Given the description of an element on the screen output the (x, y) to click on. 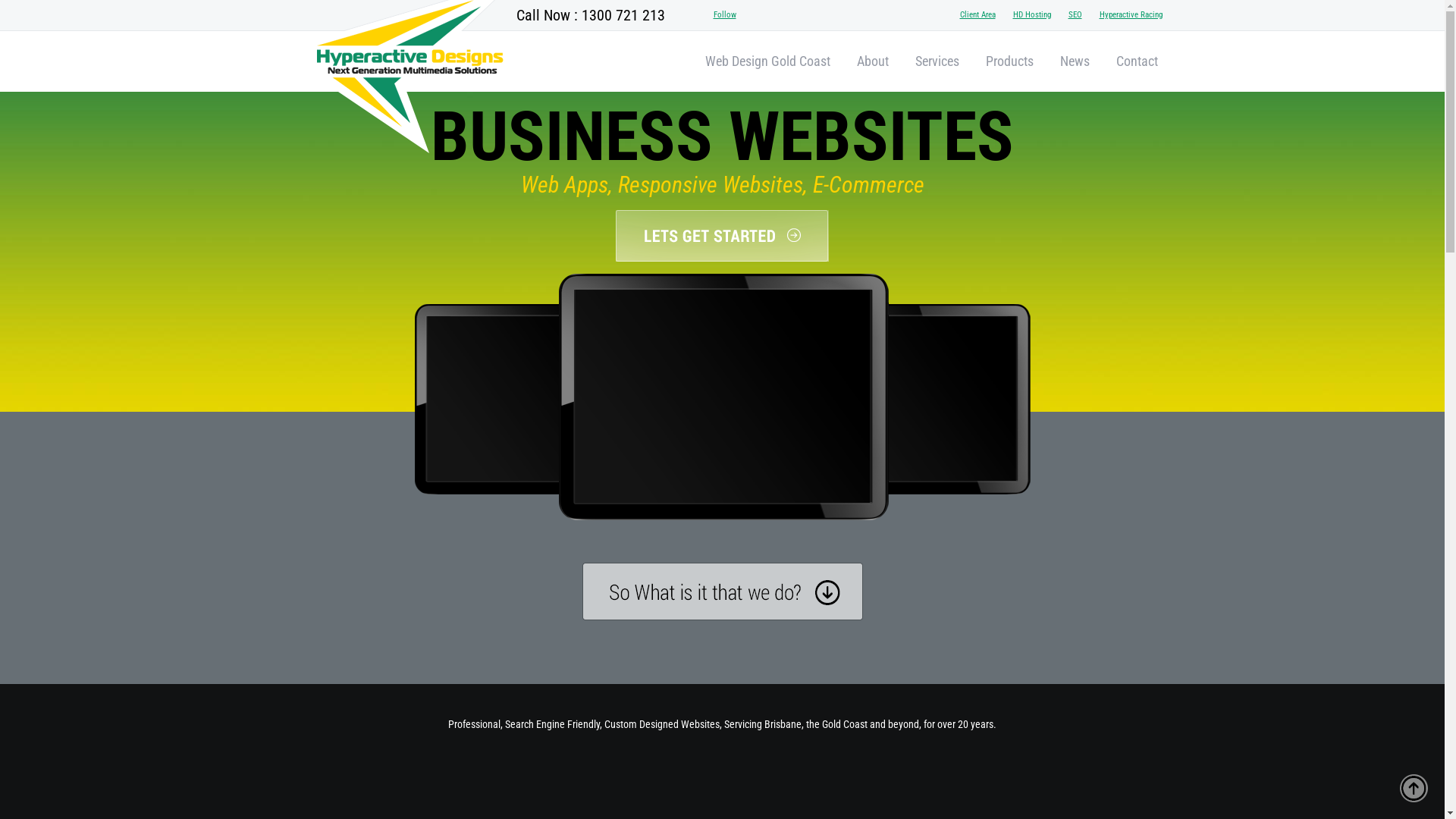
Follow Element type: text (723, 14)
HD Hosting Element type: text (1031, 15)
Services Element type: text (936, 61)
About Element type: text (872, 61)
Web Design Gold Coast Element type: text (767, 61)
News Element type: text (1074, 61)
SEO Element type: text (1074, 15)
Contact Element type: text (1137, 61)
Products Element type: text (1009, 61)
Hyperactive Racing Element type: text (1131, 15)
Client Area Element type: text (977, 15)
